Given the description of an element on the screen output the (x, y) to click on. 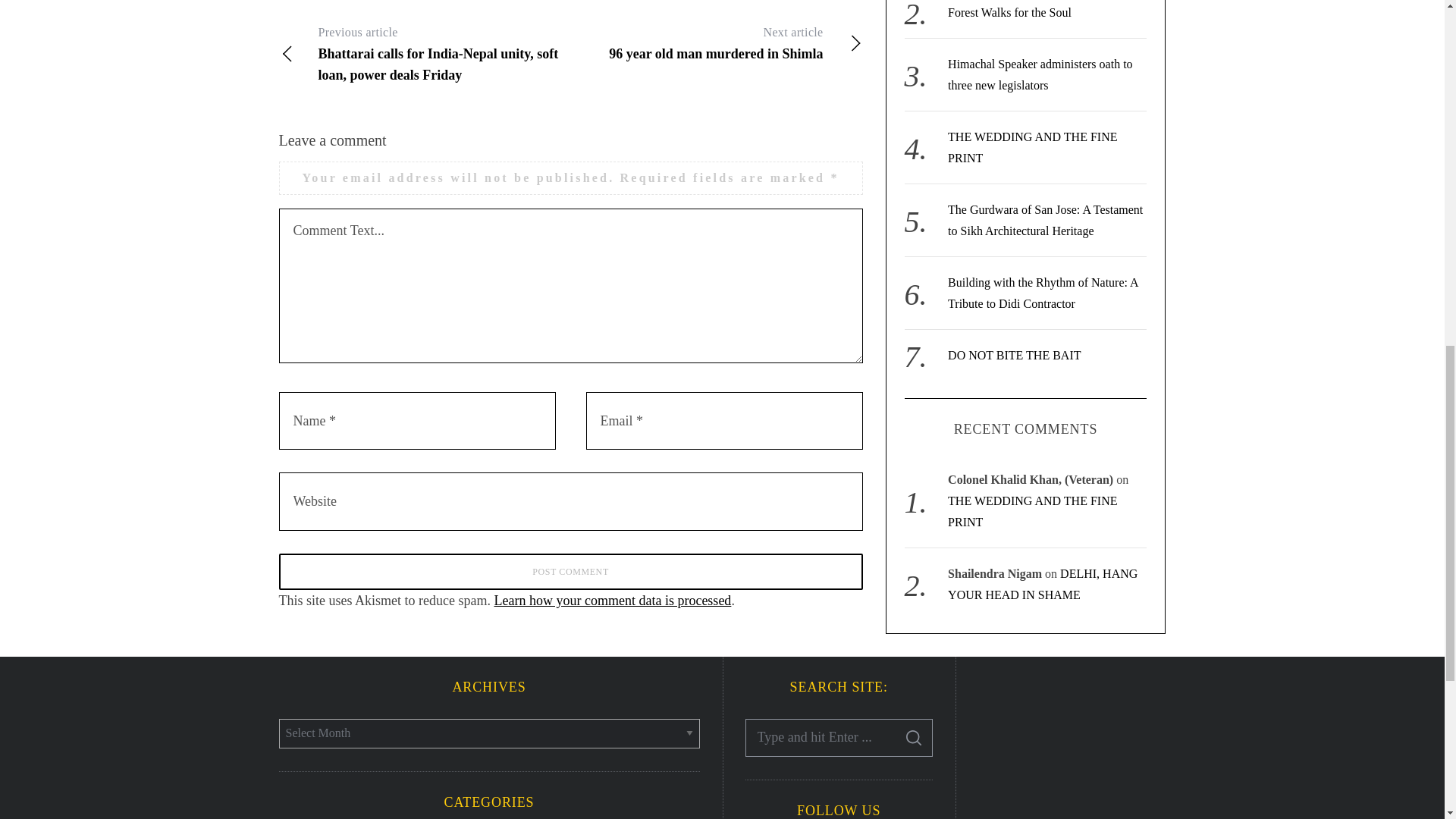
THE WEDDING AND THE FINE PRINT (1031, 24)
THE WEDDING AND THE FINE PRINT (1031, 388)
DELHI, HANG YOUR HEAD IN SHAME (1042, 461)
DO NOT BITE THE BAIT (1013, 232)
Learn how your comment data is processed (611, 600)
Post Comment (571, 571)
PepupHome Best Home improvement blog 2020 (1072, 746)
Post Comment (571, 571)
